Given the description of an element on the screen output the (x, y) to click on. 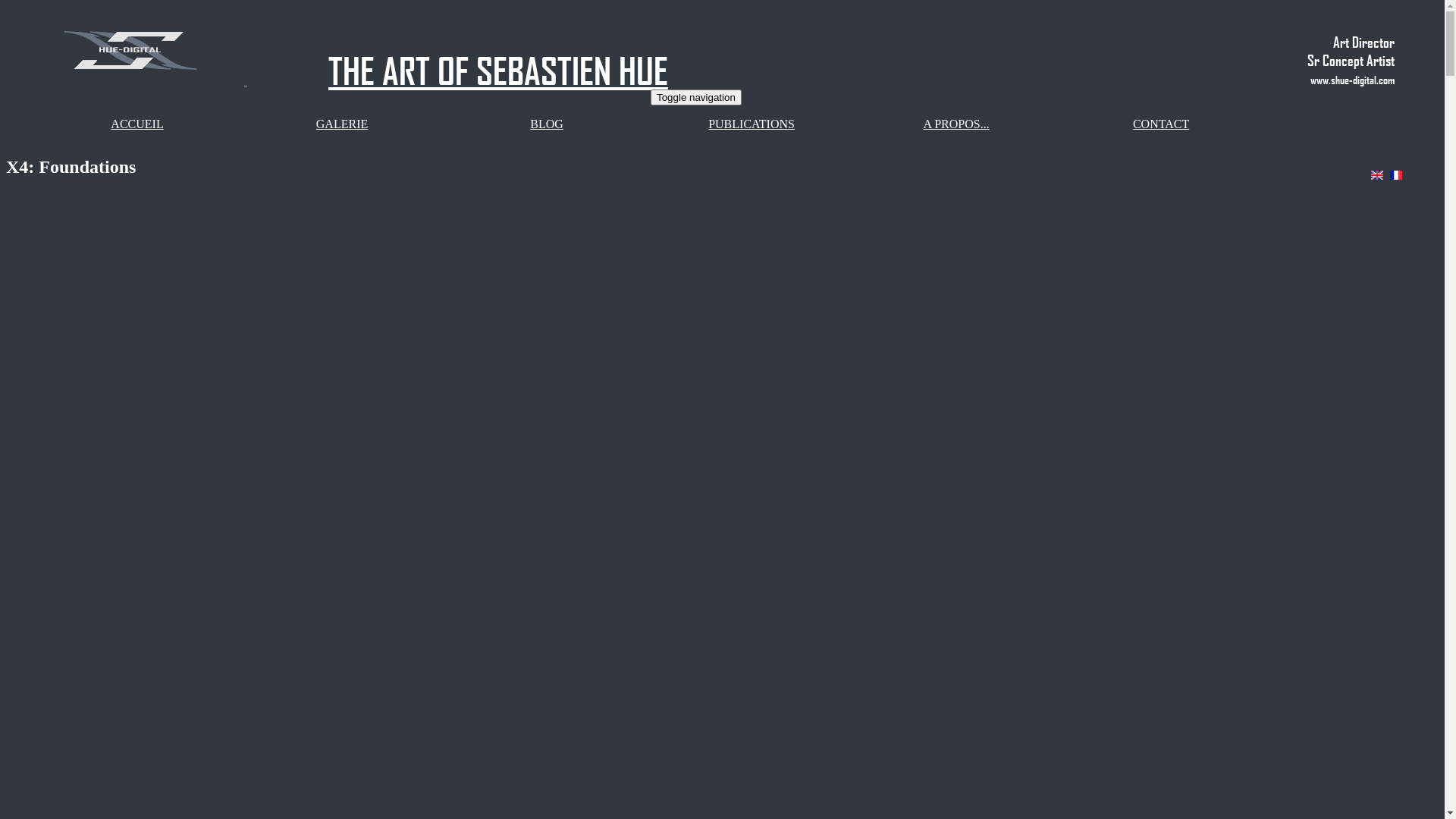
Home Element type: hover (132, 80)
CONTACT Element type: text (1160, 123)
THE ART OF SEBASTIEN HUE Element type: text (497, 70)
Skip to main content Element type: text (6, 15)
A PROPOS... Element type: text (955, 123)
ACCUEIL Element type: text (136, 123)
PUBLICATIONS Element type: text (751, 123)
BLOG Element type: text (546, 123)
English Element type: hover (1377, 174)
GALERIE Element type: text (341, 123)
Toggle navigation Element type: text (695, 97)
X4: Cradle of Humanity - Reveal Teaser Element type: text (45, 263)
